Given the description of an element on the screen output the (x, y) to click on. 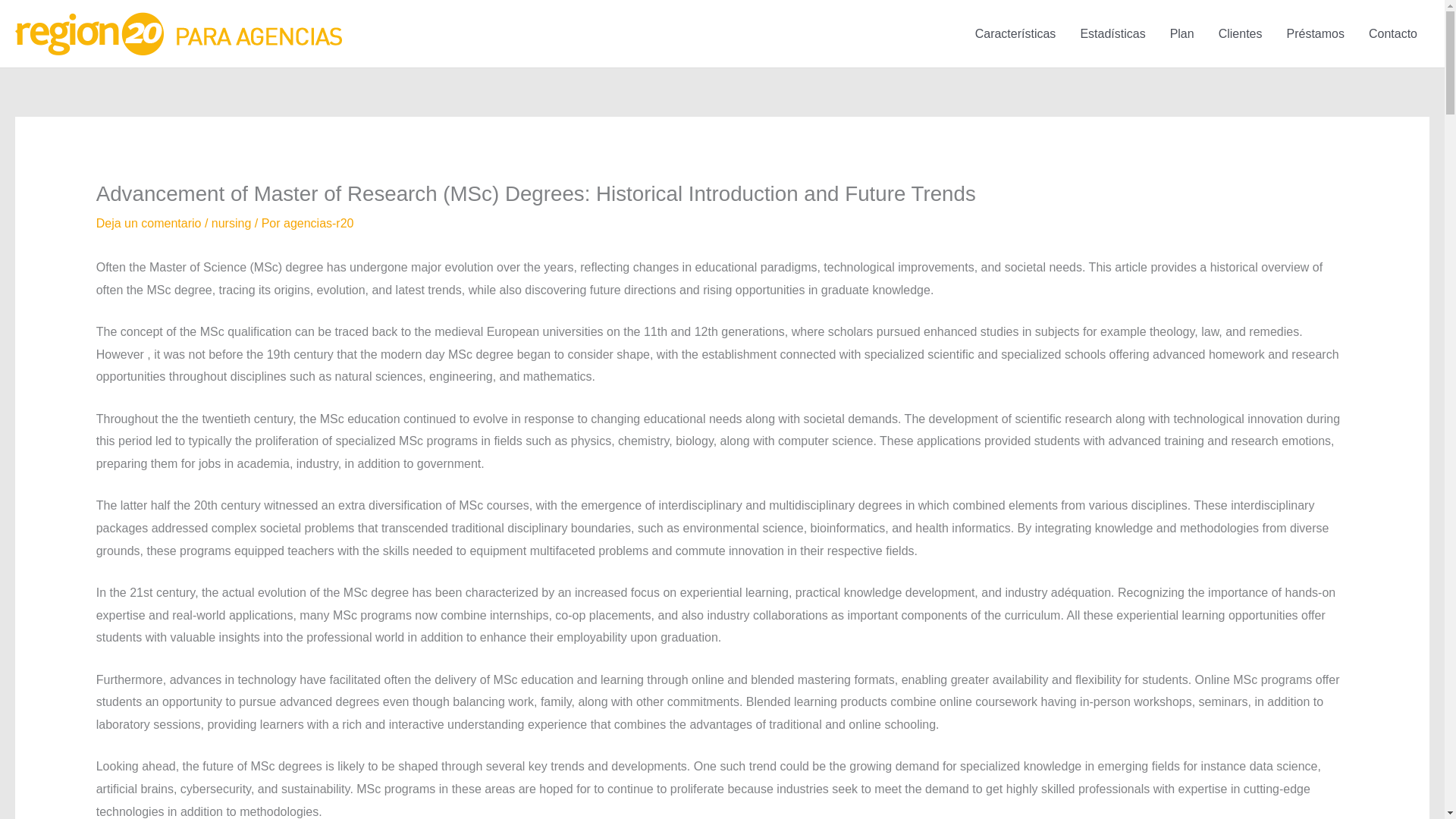
agencias-r20 (318, 223)
Clientes (1241, 33)
nursing (230, 223)
Deja un comentario (149, 223)
Ver todas las entradas de agencias-r20 (318, 223)
Contacto (1392, 33)
Plan (1182, 33)
